Given the description of an element on the screen output the (x, y) to click on. 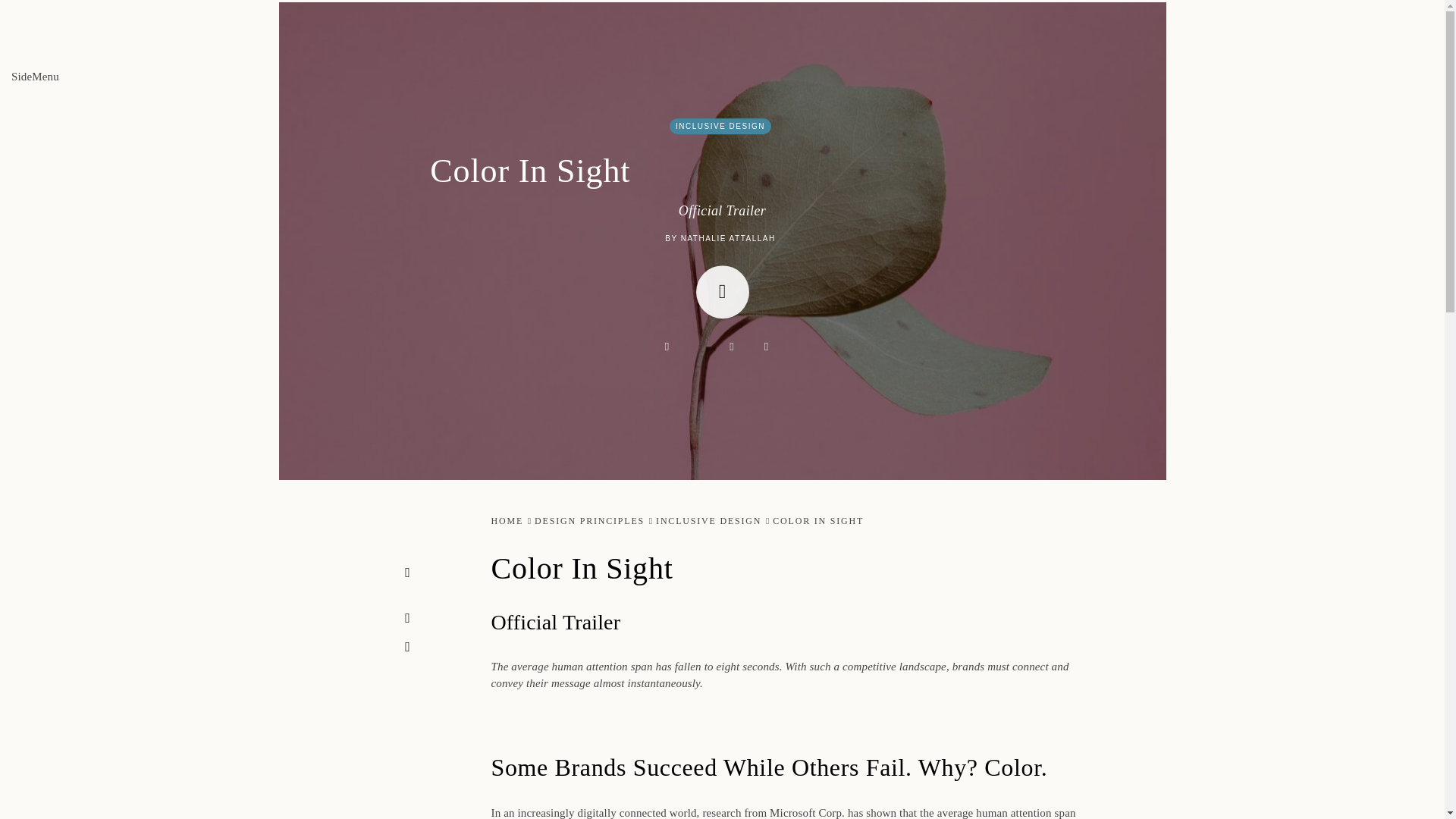
INCLUSIVE DESIGN (720, 125)
HOME (508, 520)
DESIGN PRINCIPLES (589, 520)
BY NATHALIE ATTALLAH (719, 238)
INCLUSIVE DESIGN (708, 520)
SideMenu (35, 76)
